Given the description of an element on the screen output the (x, y) to click on. 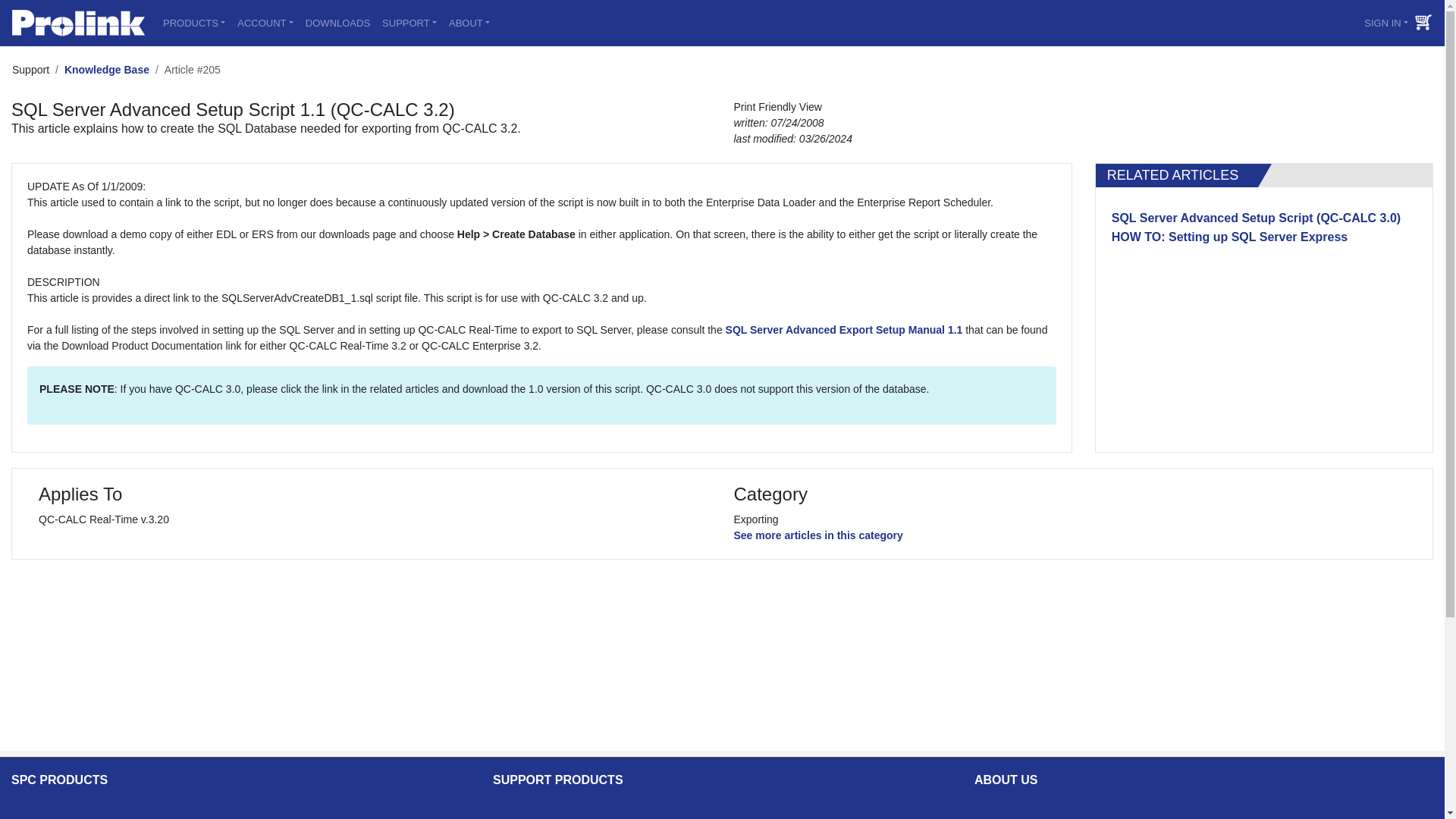
DOWNLOADS (337, 22)
ACCOUNT (265, 22)
PRODUCTS (194, 22)
SUPPORT (408, 22)
